Given the description of an element on the screen output the (x, y) to click on. 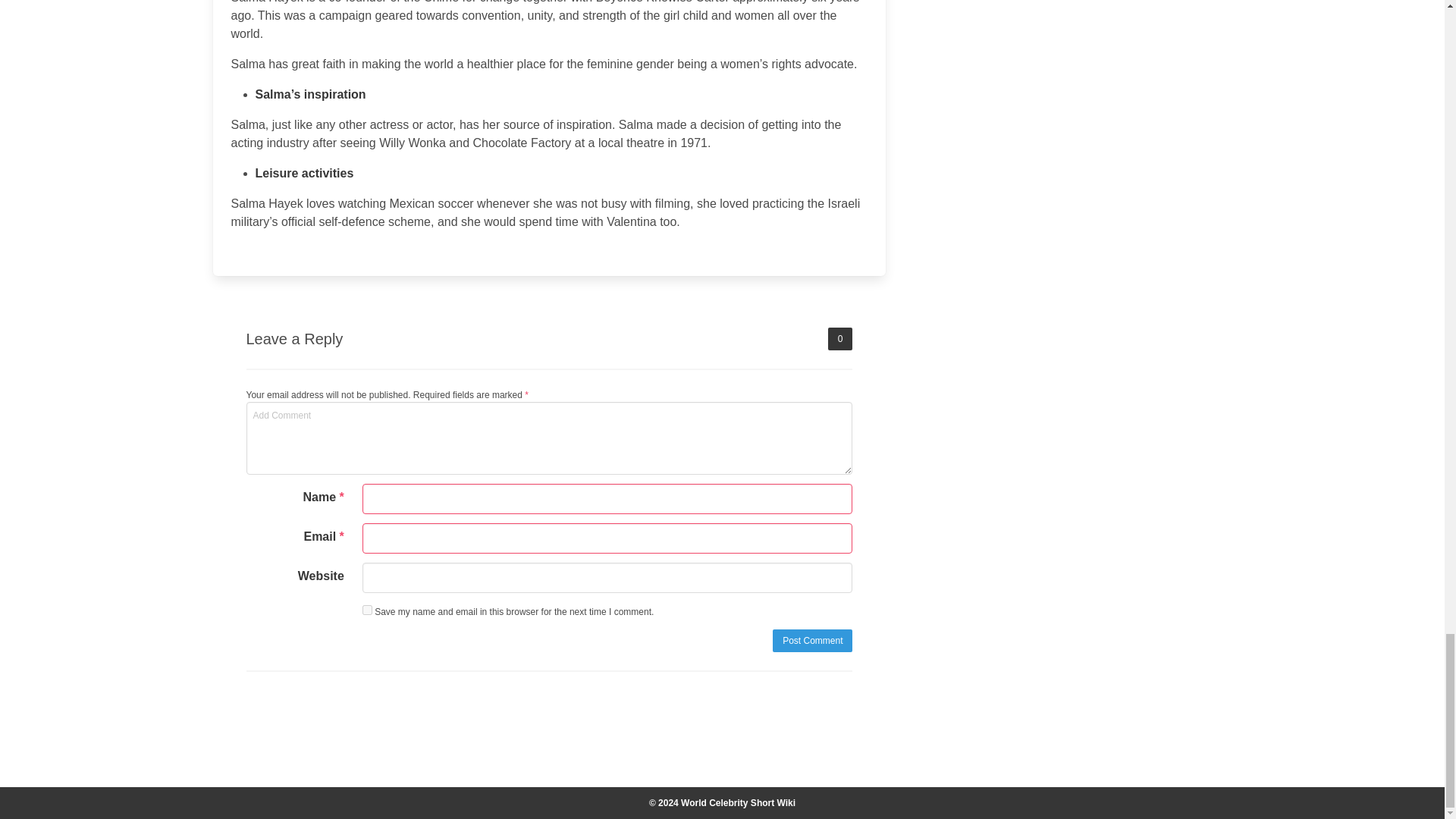
Post Comment (812, 640)
yes (367, 610)
Post Comment (812, 640)
